Given the description of an element on the screen output the (x, y) to click on. 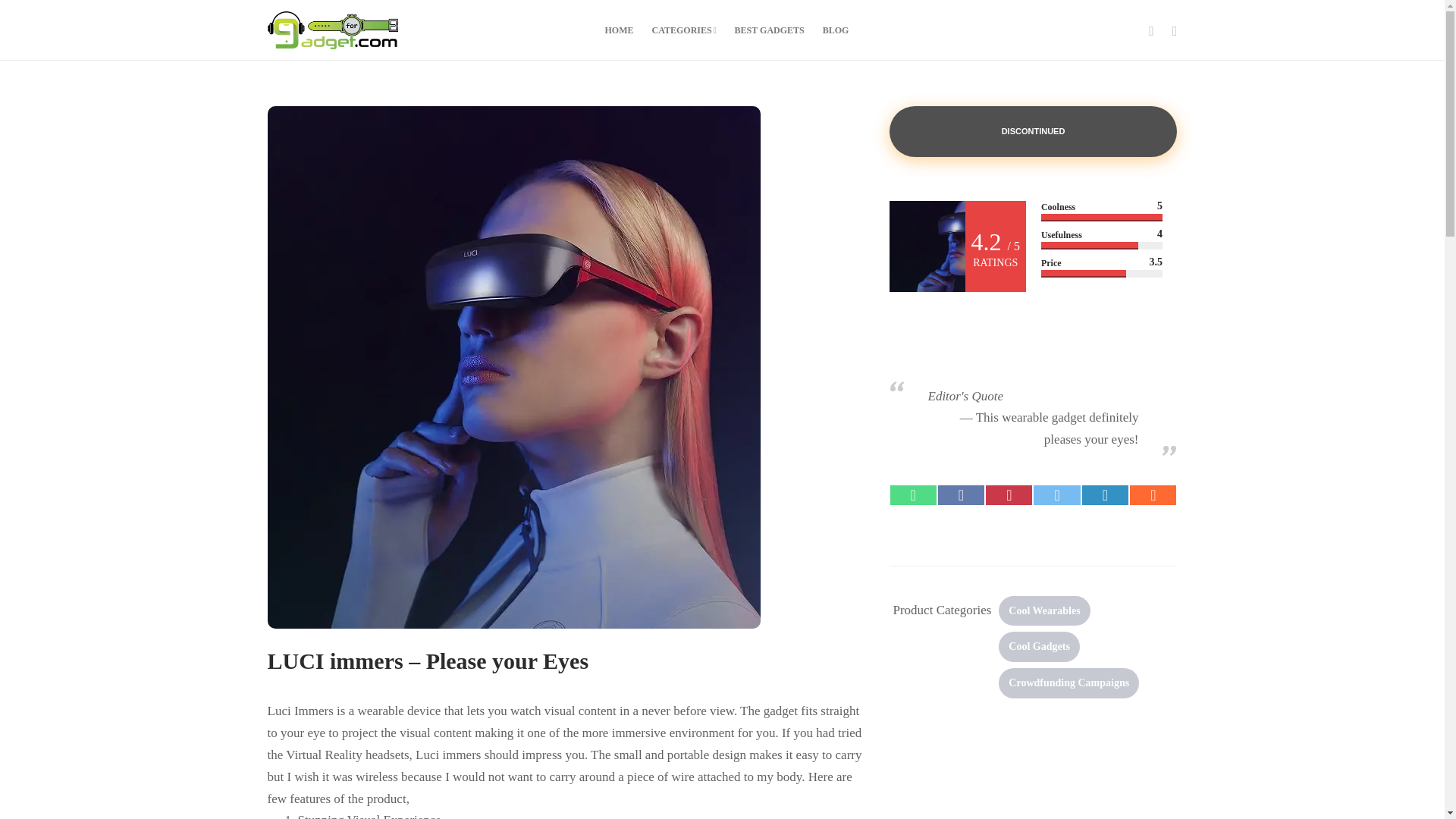
CATEGORIES (684, 29)
DISCONTINUED (1032, 131)
DISCONTINUED (1032, 129)
Cool Wearables (1043, 611)
Crowdfunding Campaigns (1068, 683)
BEST GADGETS (770, 29)
Cool Gadgets (1039, 646)
